Given the description of an element on the screen output the (x, y) to click on. 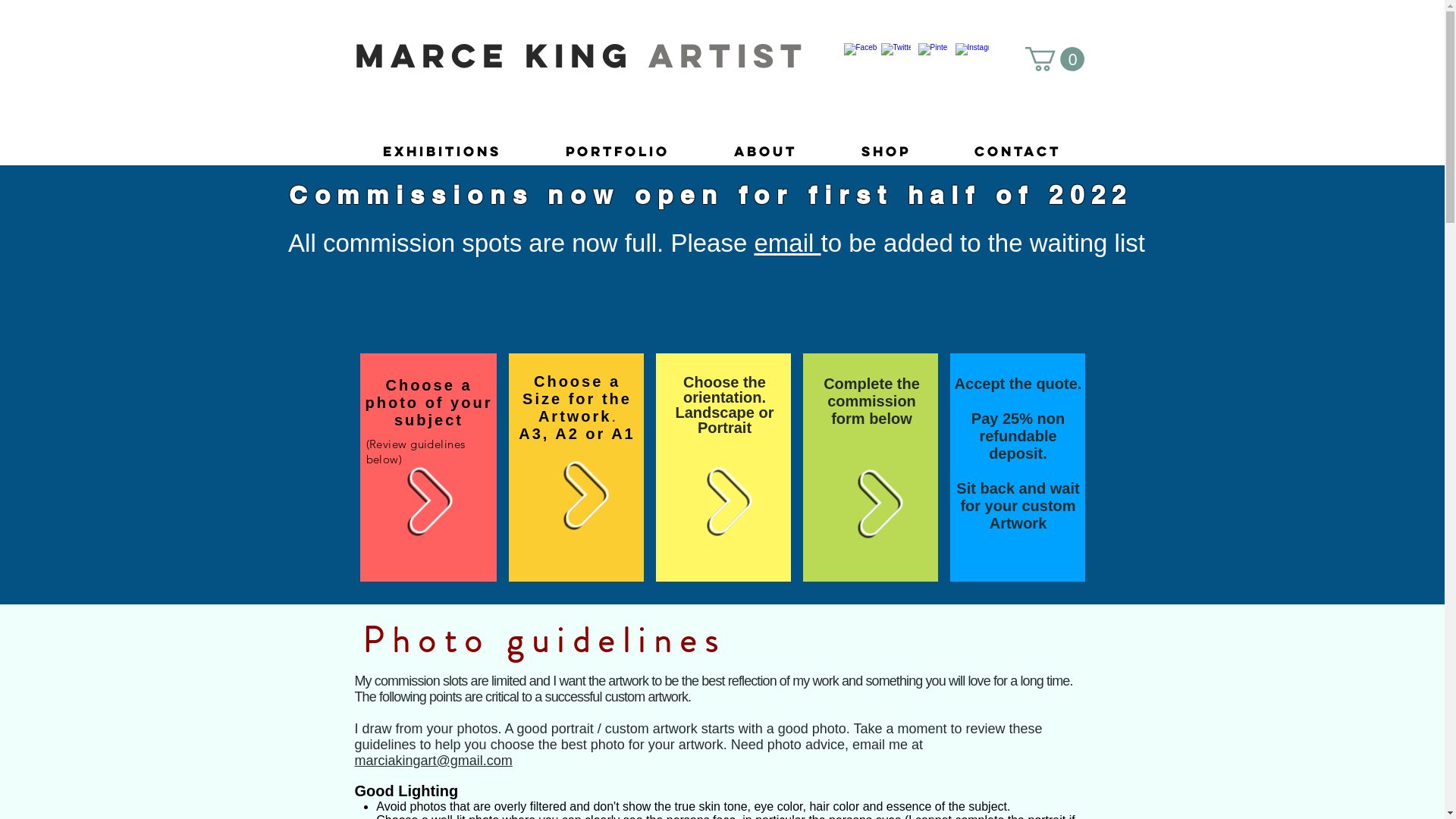
0 Element type: text (1054, 59)
email Element type: text (786, 243)
marciakingart@gmail.com Element type: text (433, 760)
Exhibitions Element type: text (441, 144)
Shop Element type: text (885, 144)
marce king artist Element type: text (581, 55)
Portfolio Element type: text (617, 144)
Contact Element type: text (1016, 144)
